Given the description of an element on the screen output the (x, y) to click on. 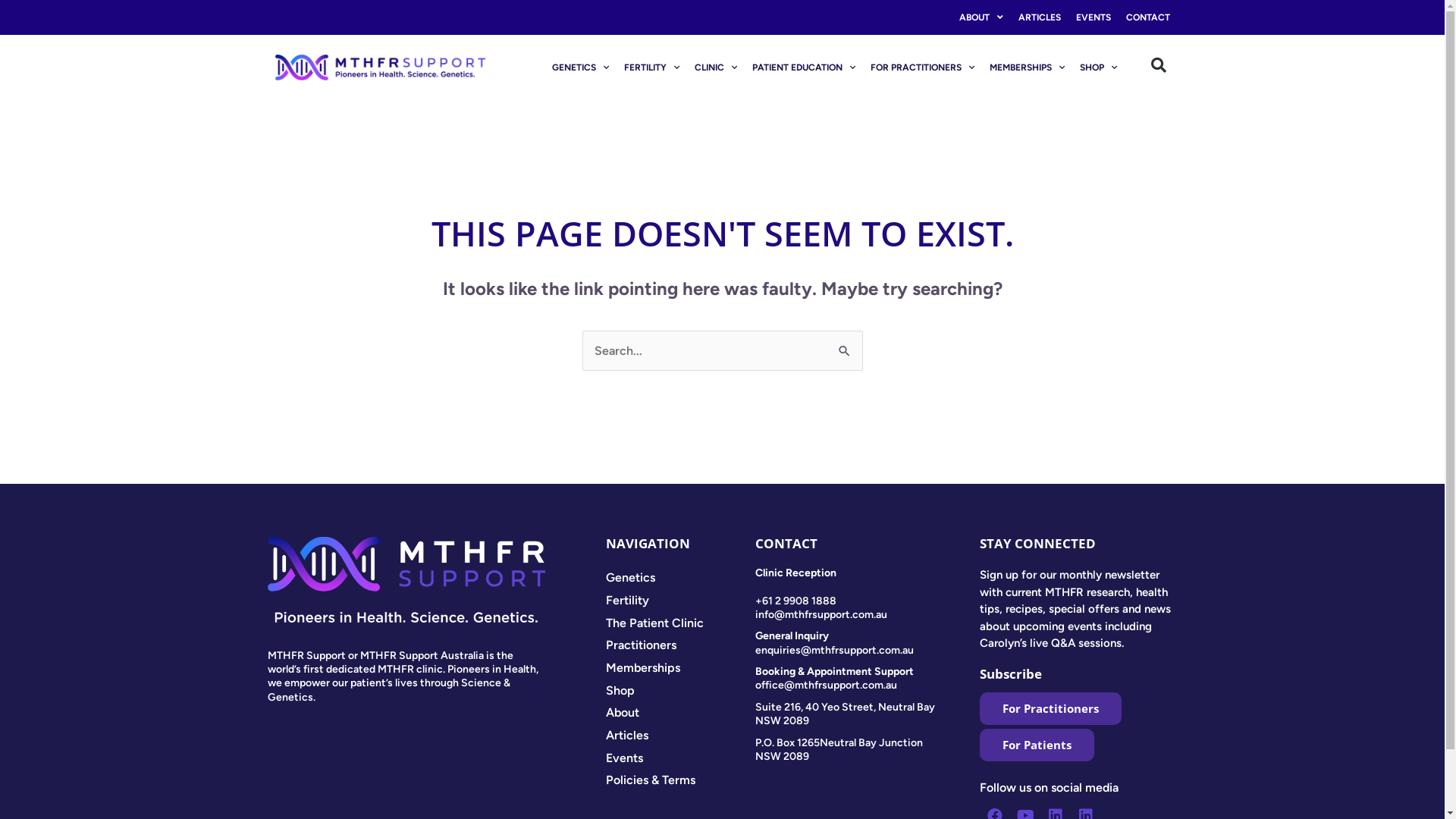
MEMBERSHIPS Element type: text (1026, 67)
Search Element type: text (845, 345)
The Patient Clinic Element type: text (680, 622)
Practitioners Element type: text (680, 644)
Events Element type: text (680, 757)
About Element type: text (680, 712)
Memberships Element type: text (680, 667)
For Patients Element type: text (1036, 744)
Fertility Element type: text (680, 600)
Articles Element type: text (680, 735)
FERTILITY Element type: text (651, 67)
Shop Element type: text (680, 690)
For Practitioners Element type: text (1050, 708)
PATIENT EDUCATION Element type: text (803, 67)
ARTICLES Element type: text (1038, 17)
GENETICS Element type: text (580, 67)
CONTACT Element type: text (1147, 17)
SHOP Element type: text (1098, 67)
ABOUT Element type: text (980, 17)
Policies & Terms Element type: text (680, 779)
Genetics Element type: text (680, 577)
EVENTS Element type: text (1092, 17)
CLINIC Element type: text (715, 67)
FOR PRACTITIONERS Element type: text (922, 67)
